Given the description of an element on the screen output the (x, y) to click on. 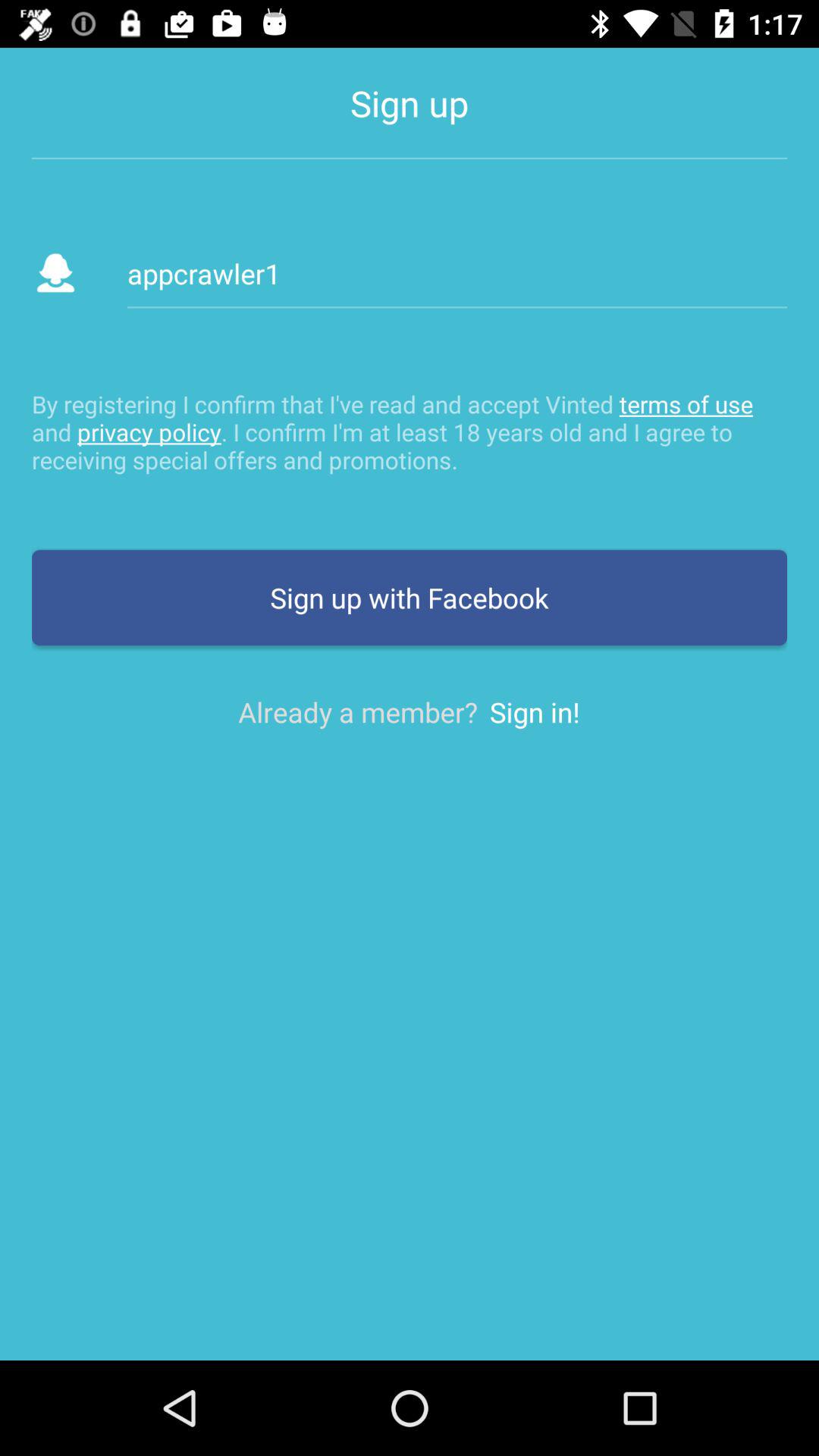
select the item below sign up icon (457, 273)
